Given the description of an element on the screen output the (x, y) to click on. 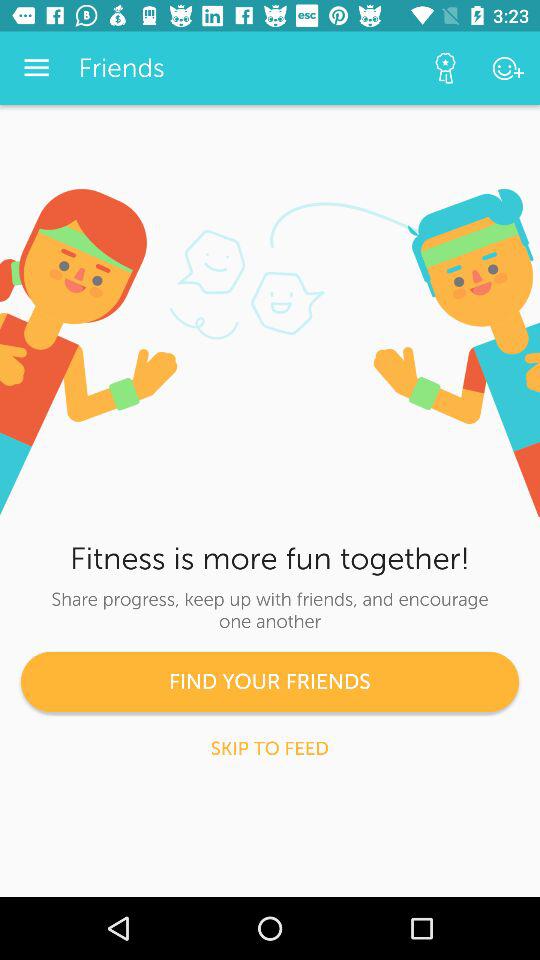
turn off app next to friends icon (36, 68)
